Given the description of an element on the screen output the (x, y) to click on. 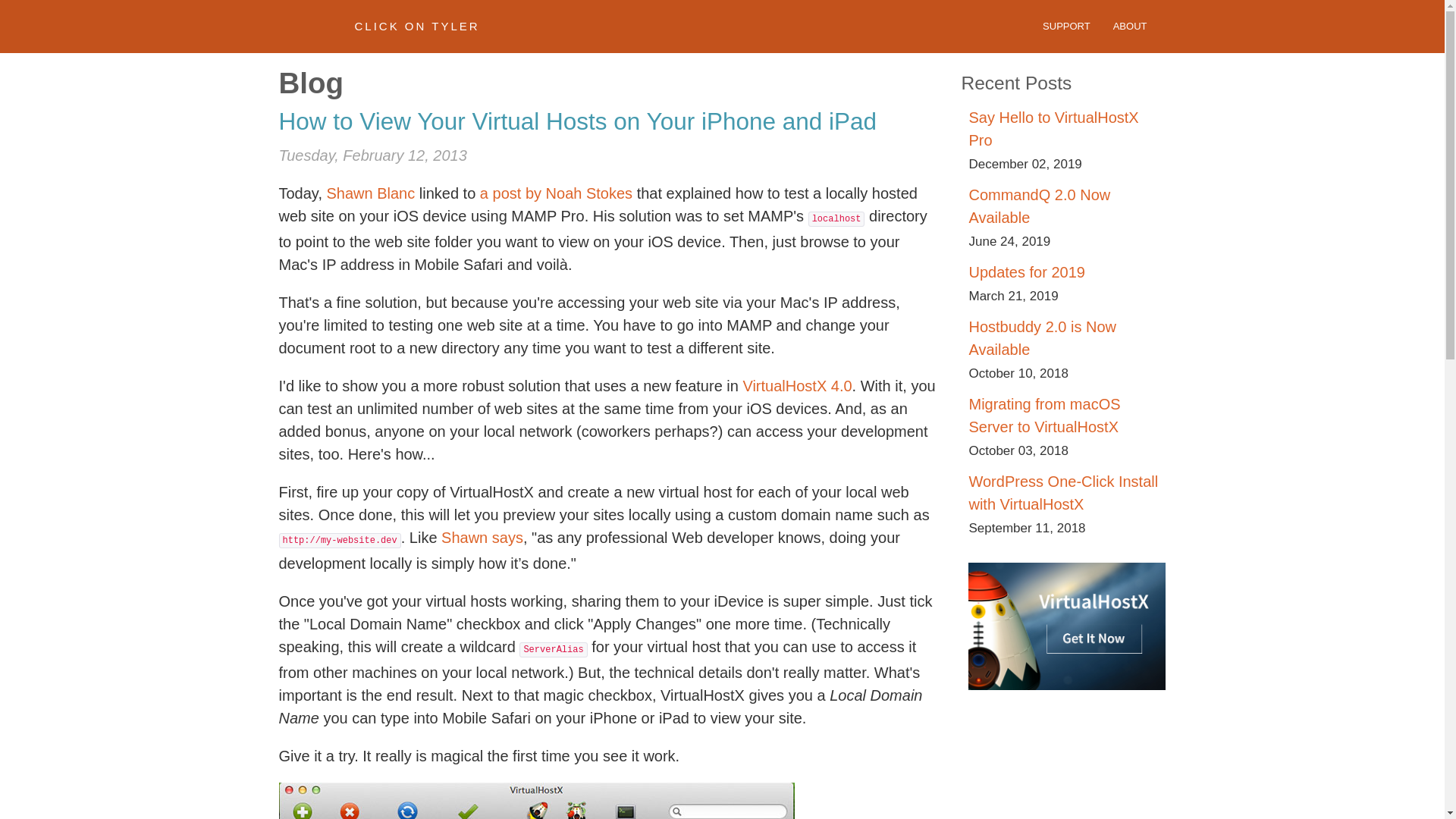
Hostbuddy 2.0 is Now Available (1042, 337)
CommandQ 2.0 Now Available (1038, 206)
WordPress One-Click Install with VirtualHostX (1062, 492)
Say Hello to VirtualHostX Pro (1053, 128)
Shawn Blanc (370, 193)
ABOUT (1130, 26)
Updates for 2019 (1026, 271)
SUPPORT (1066, 26)
VirtualHostX 4.0 (796, 385)
a post by Noah Stokes (555, 193)
